Given the description of an element on the screen output the (x, y) to click on. 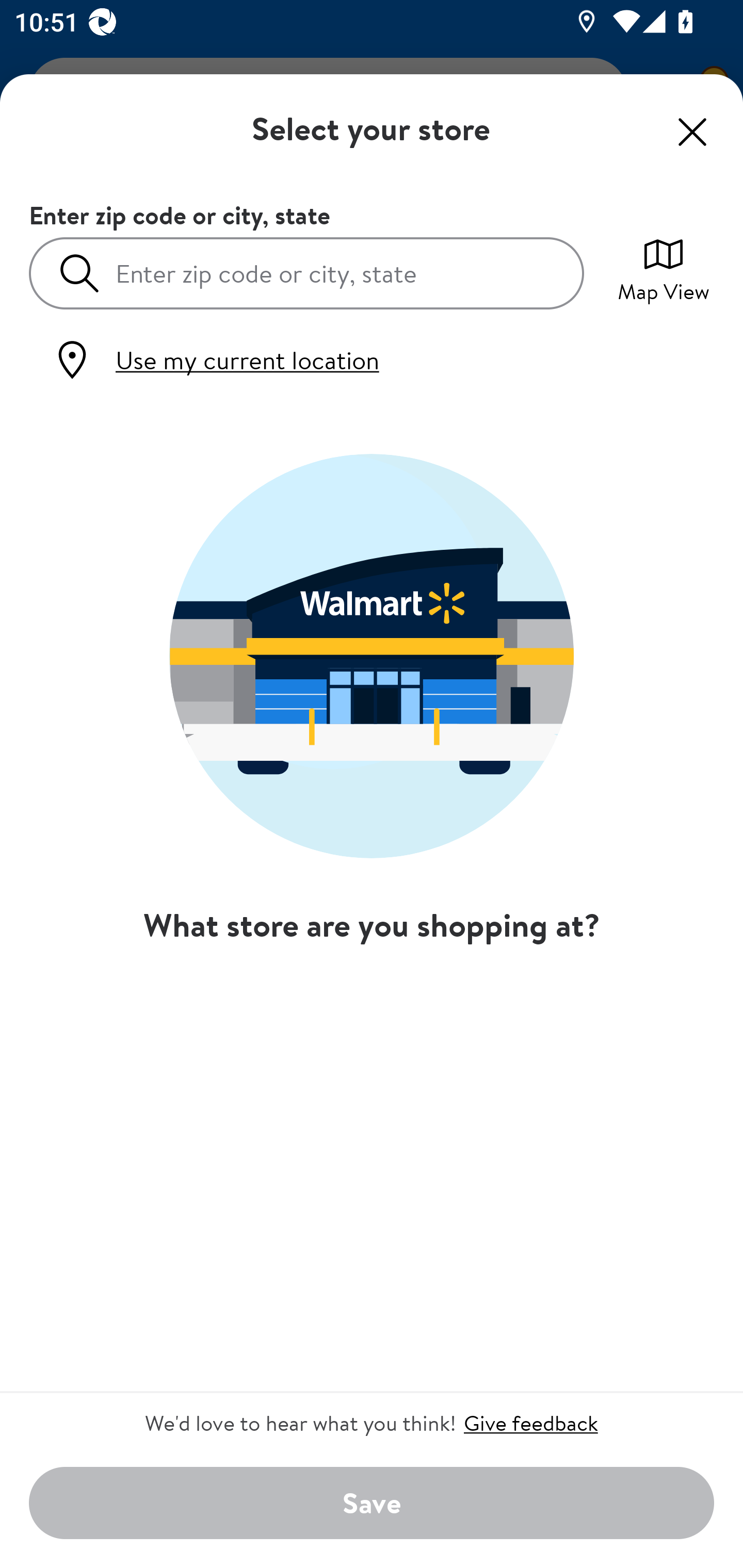
Close (692, 131)
Map View Switch to map view (663, 268)
Enter zip code or city, state (305, 272)
Use my current location (214, 359)
Give feedback (530, 1422)
Save (371, 1503)
